Given the description of an element on the screen output the (x, y) to click on. 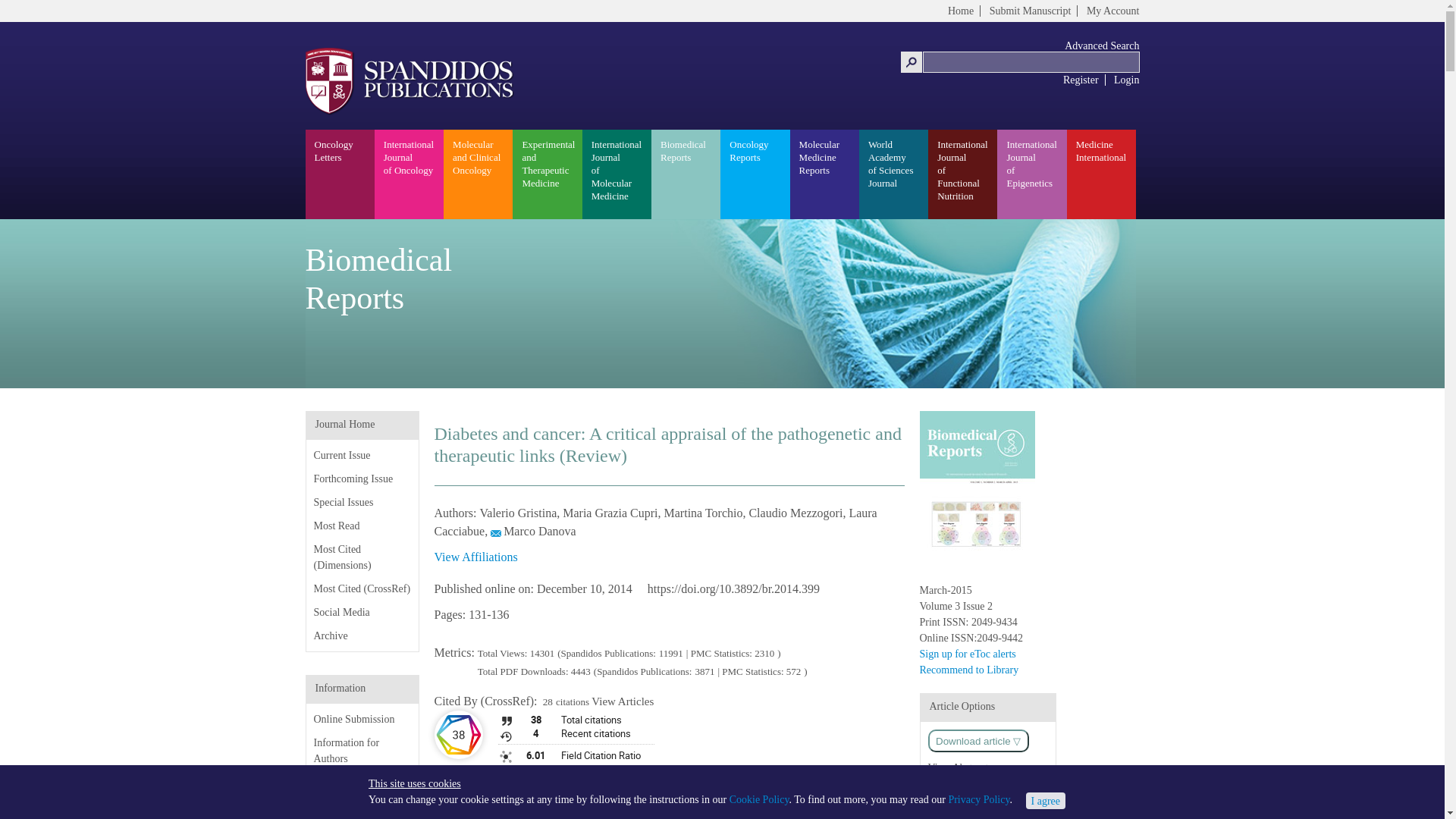
The metrics are calculated only from this site (541, 653)
Register (1080, 79)
Most Read (336, 525)
Special Issues (344, 501)
The metrics are calculated only from this site (523, 671)
My Account (1113, 10)
Archive (330, 635)
The metrics are calculated only from this site (503, 653)
Home (960, 10)
Submit Manuscript (1030, 10)
